Given the description of an element on the screen output the (x, y) to click on. 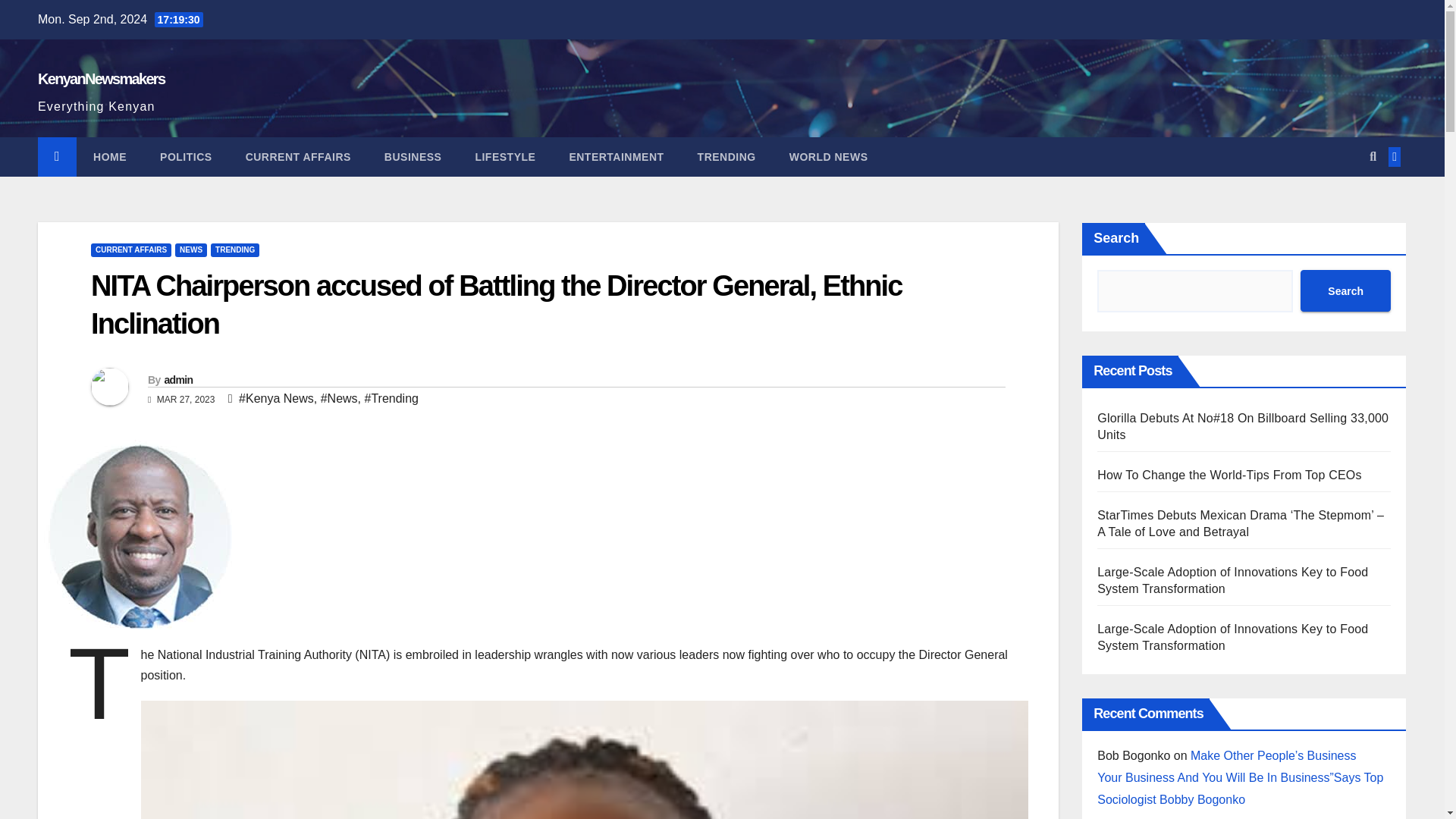
Business (413, 156)
TRENDING (727, 156)
ENTERTAINMENT (615, 156)
Home (109, 156)
NEWS (190, 250)
BUSINESS (413, 156)
TRENDING (235, 250)
KenyanNewsmakers (100, 78)
admin (177, 379)
